Given the description of an element on the screen output the (x, y) to click on. 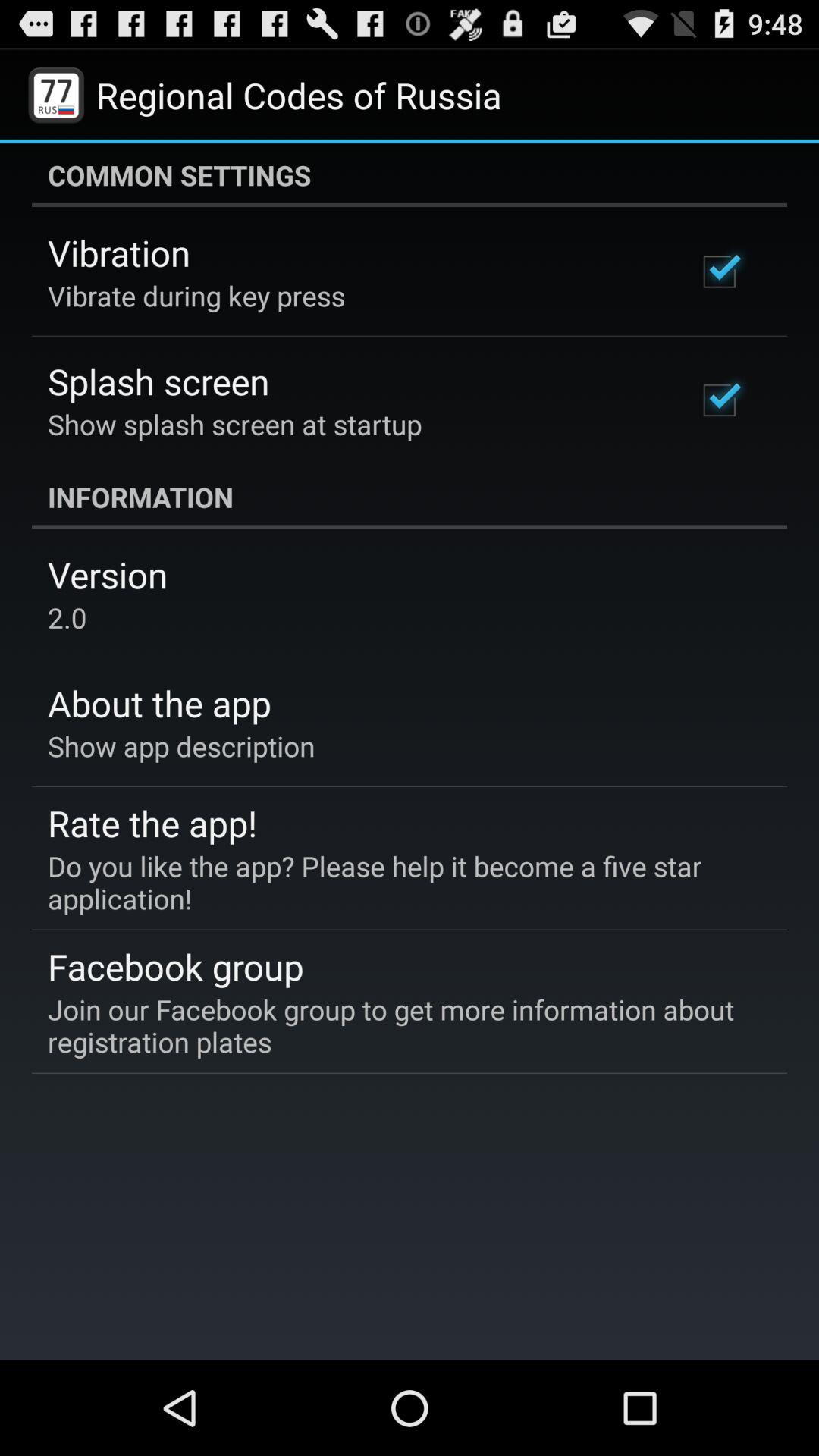
open show app description (181, 745)
